Given the description of an element on the screen output the (x, y) to click on. 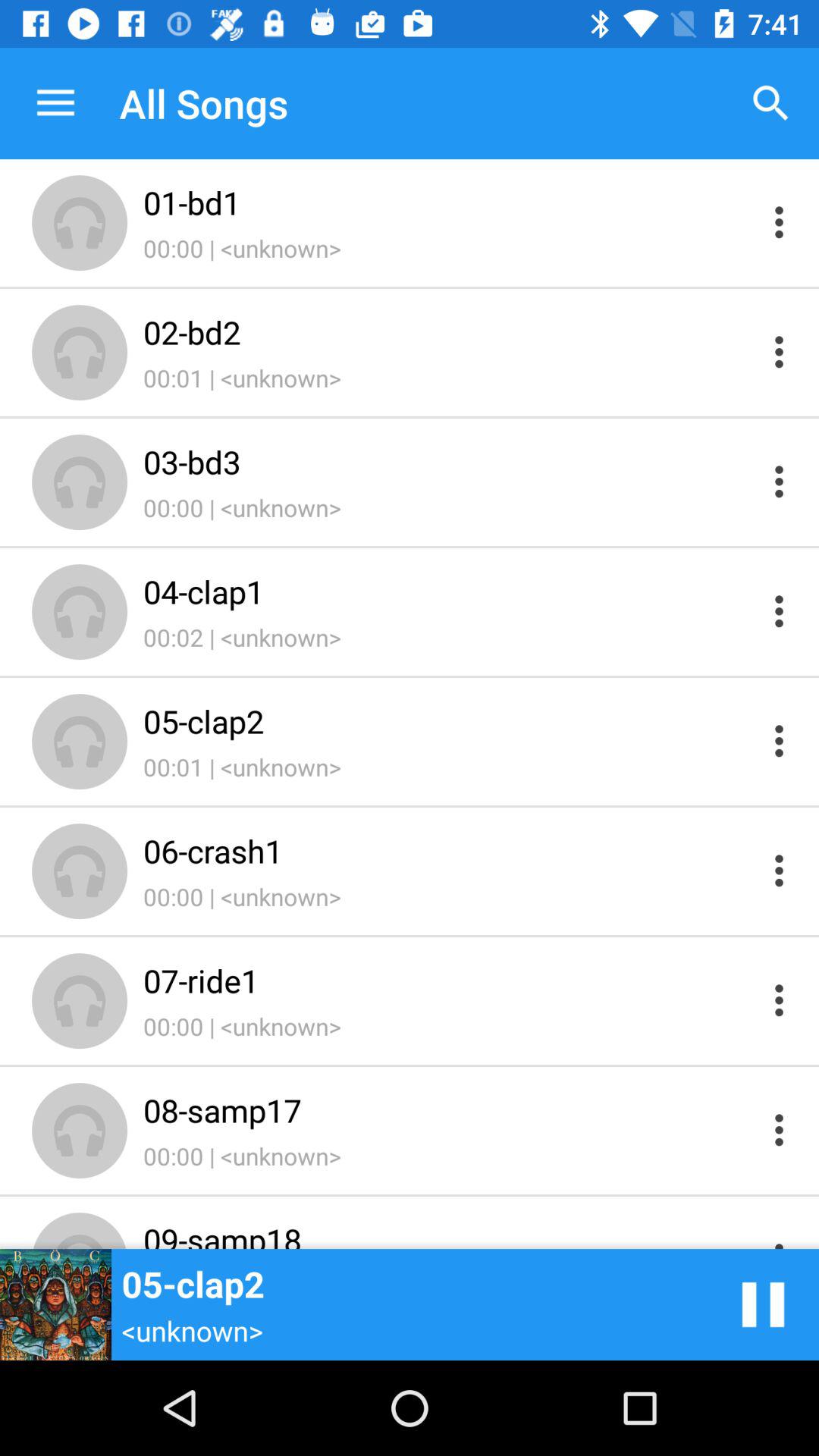
more options (779, 351)
